Given the description of an element on the screen output the (x, y) to click on. 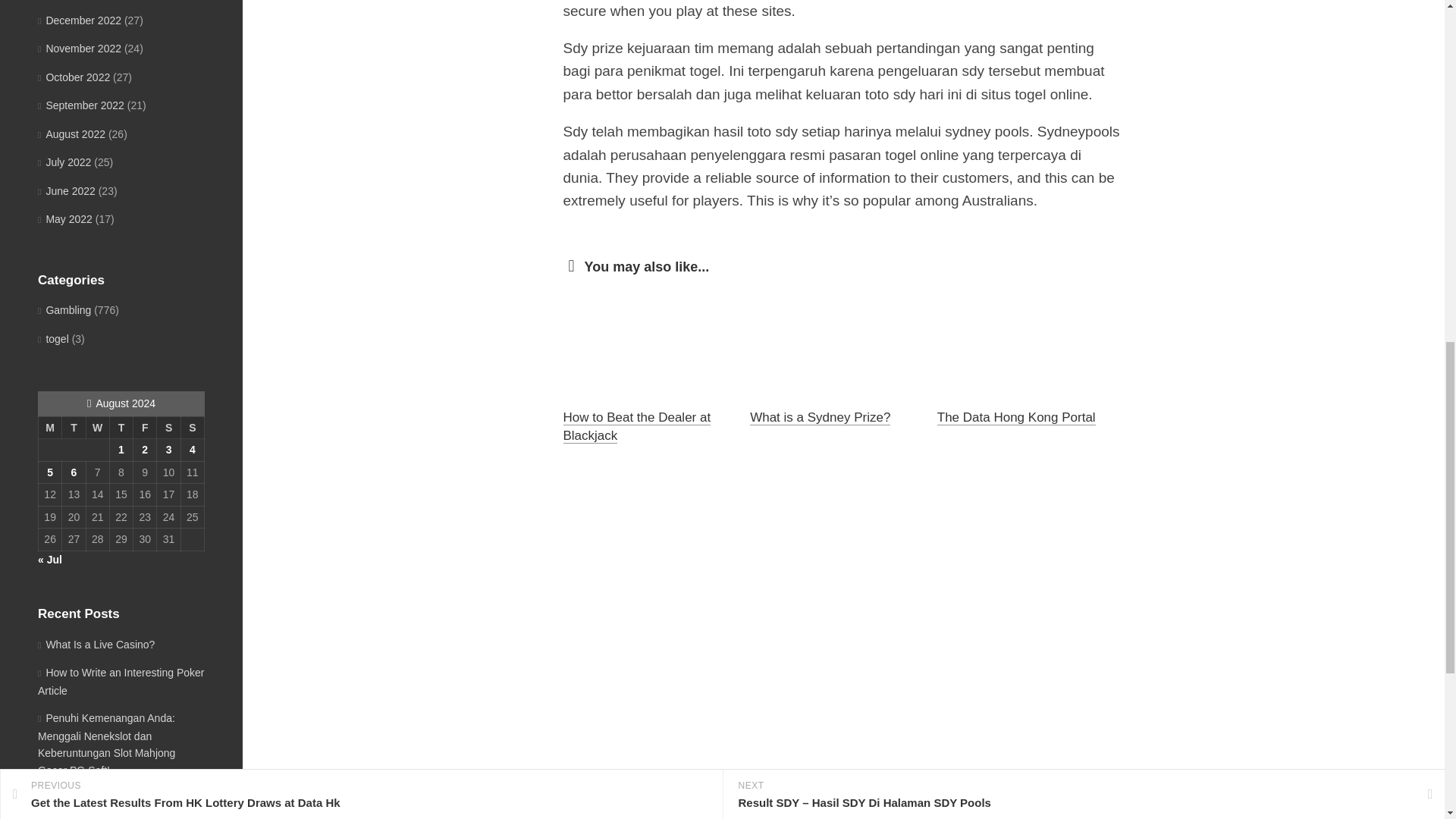
November 2022 (78, 48)
What is a Sydney Prize? (819, 417)
Tuesday (73, 427)
December 2022 (78, 19)
The Data Hong Kong Portal (1016, 417)
October 2022 (73, 77)
Wednesday (97, 427)
Sunday (191, 427)
September 2022 (80, 105)
Friday (145, 427)
How to Beat the Dealer at Blackjack (636, 426)
Saturday (168, 427)
Monday (49, 427)
Thursday (120, 427)
